Given the description of an element on the screen output the (x, y) to click on. 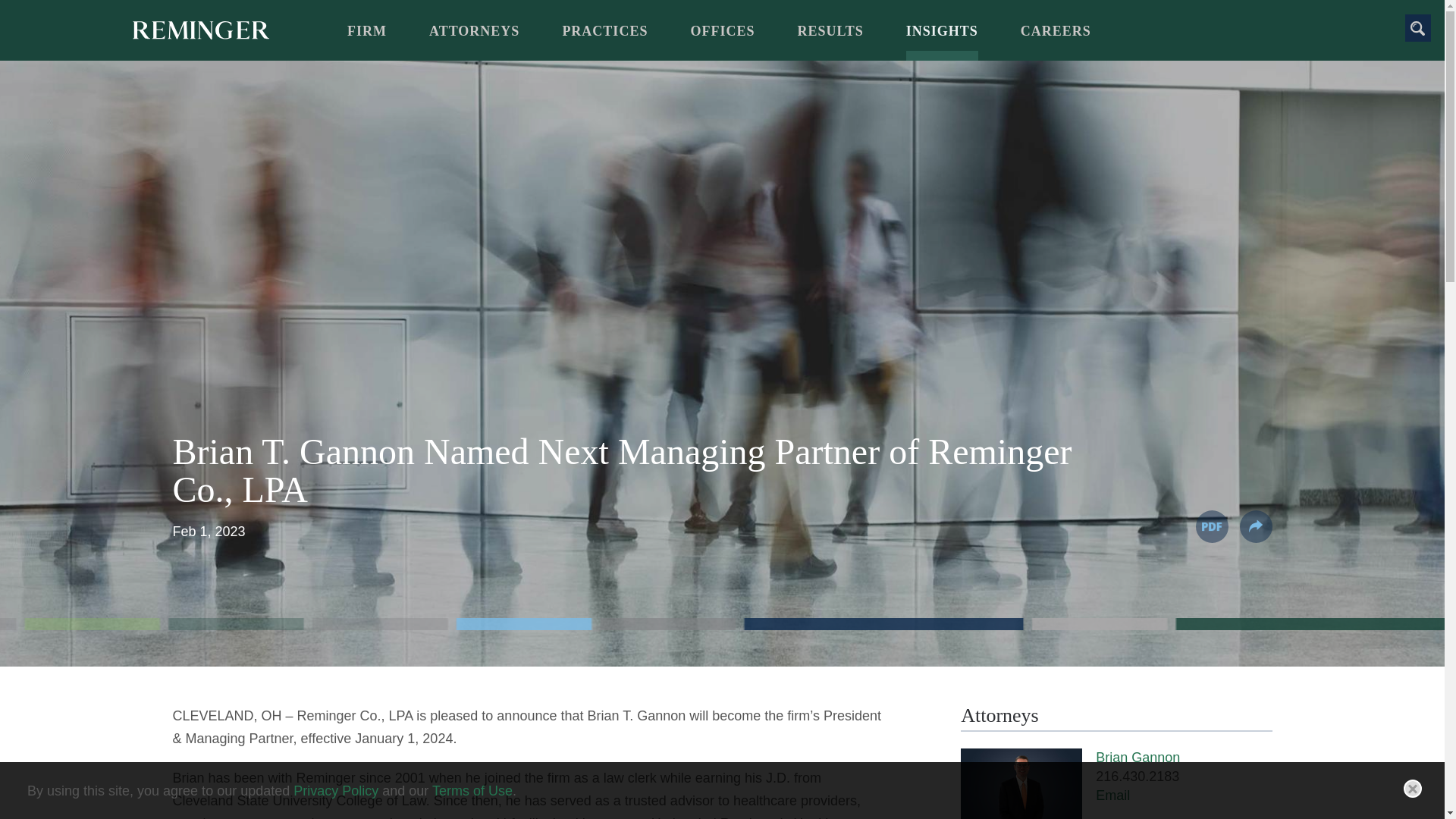
Email (1112, 795)
Main Menu (676, 19)
Share (1255, 526)
ATTORNEYS (474, 37)
PRACTICES (604, 37)
OFFICES (722, 37)
Brian Gannon (1137, 757)
216.430.2183 (1137, 776)
Main Content (669, 19)
Menu (676, 19)
